Given the description of an element on the screen output the (x, y) to click on. 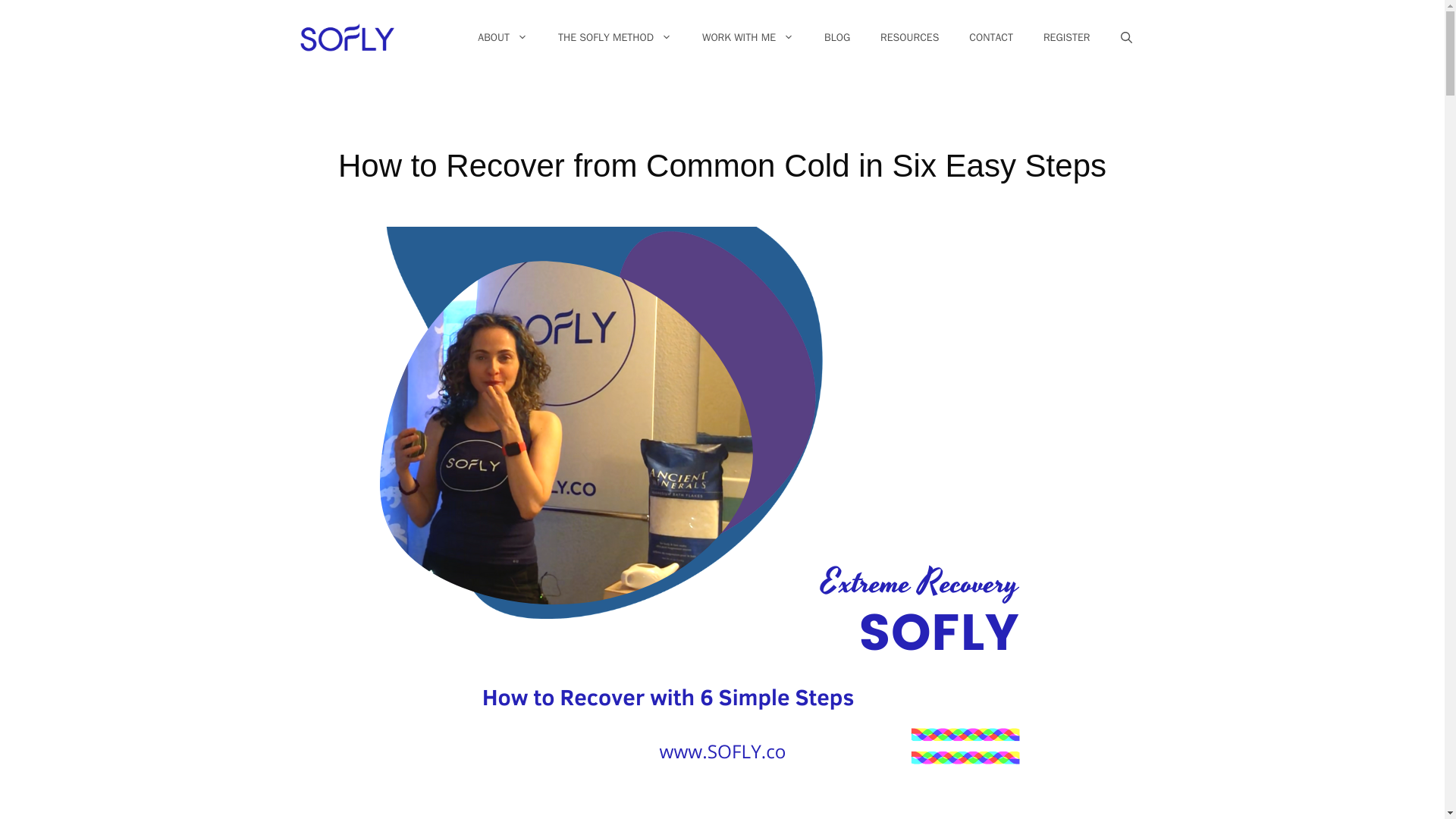
BLOG (836, 37)
CONTACT (990, 37)
WORK WITH ME (748, 37)
REGISTER (1066, 37)
THE SOFLY METHOD (615, 37)
RESOURCES (908, 37)
ABOUT (503, 37)
